Given the description of an element on the screen output the (x, y) to click on. 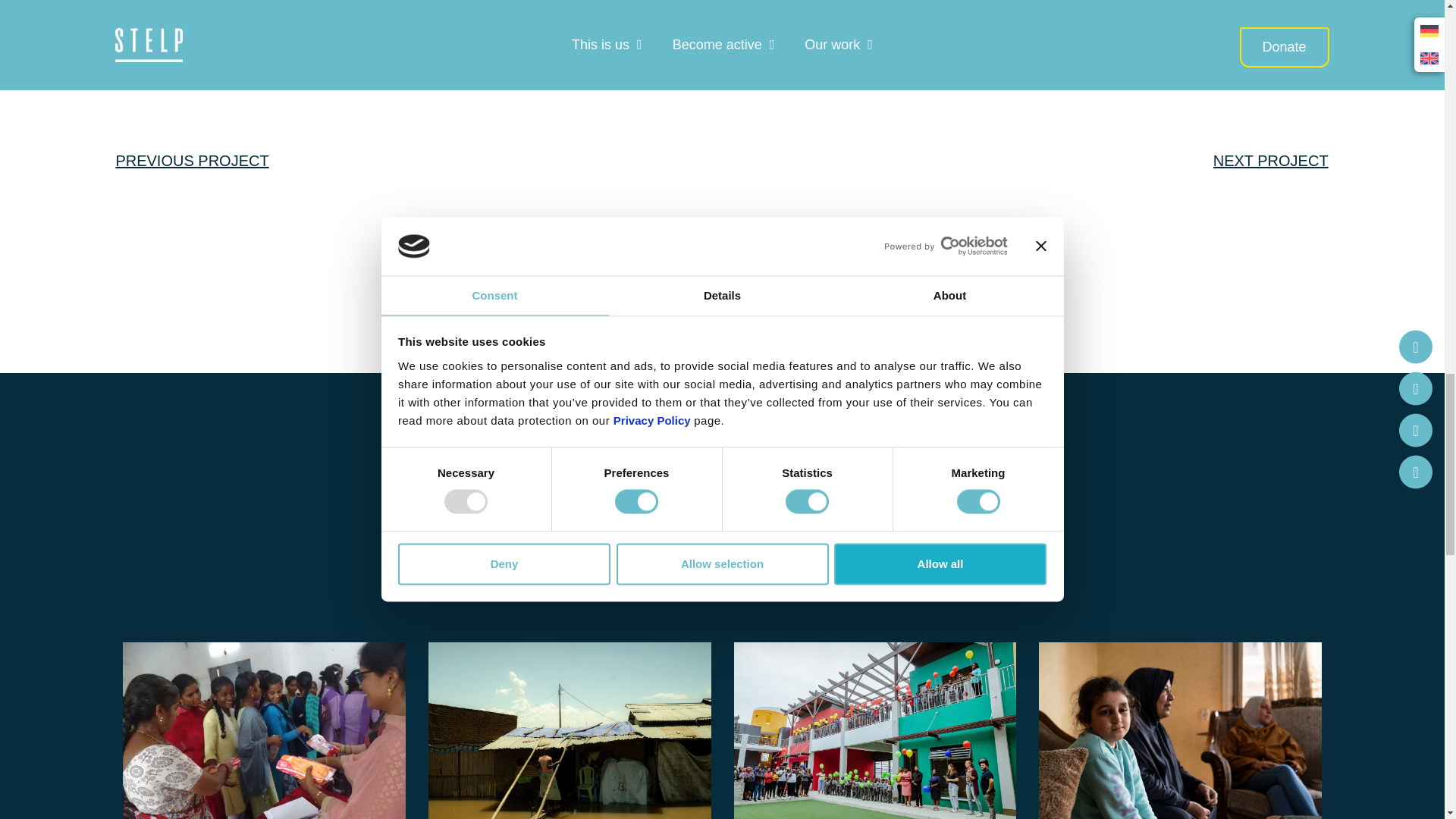
IMG-20240624-WA0182 (262, 723)
